Given the description of an element on the screen output the (x, y) to click on. 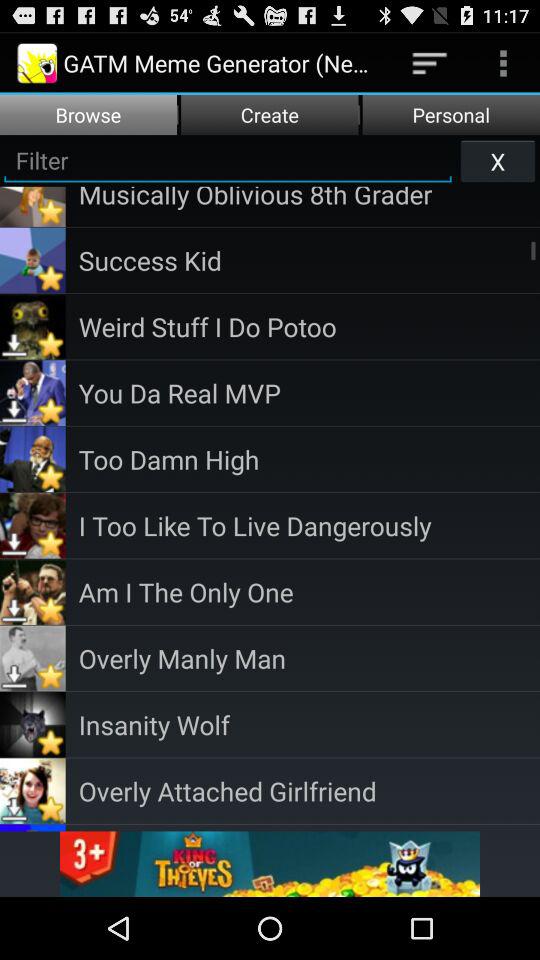
launch overly attached girlfriend (309, 790)
